Given the description of an element on the screen output the (x, y) to click on. 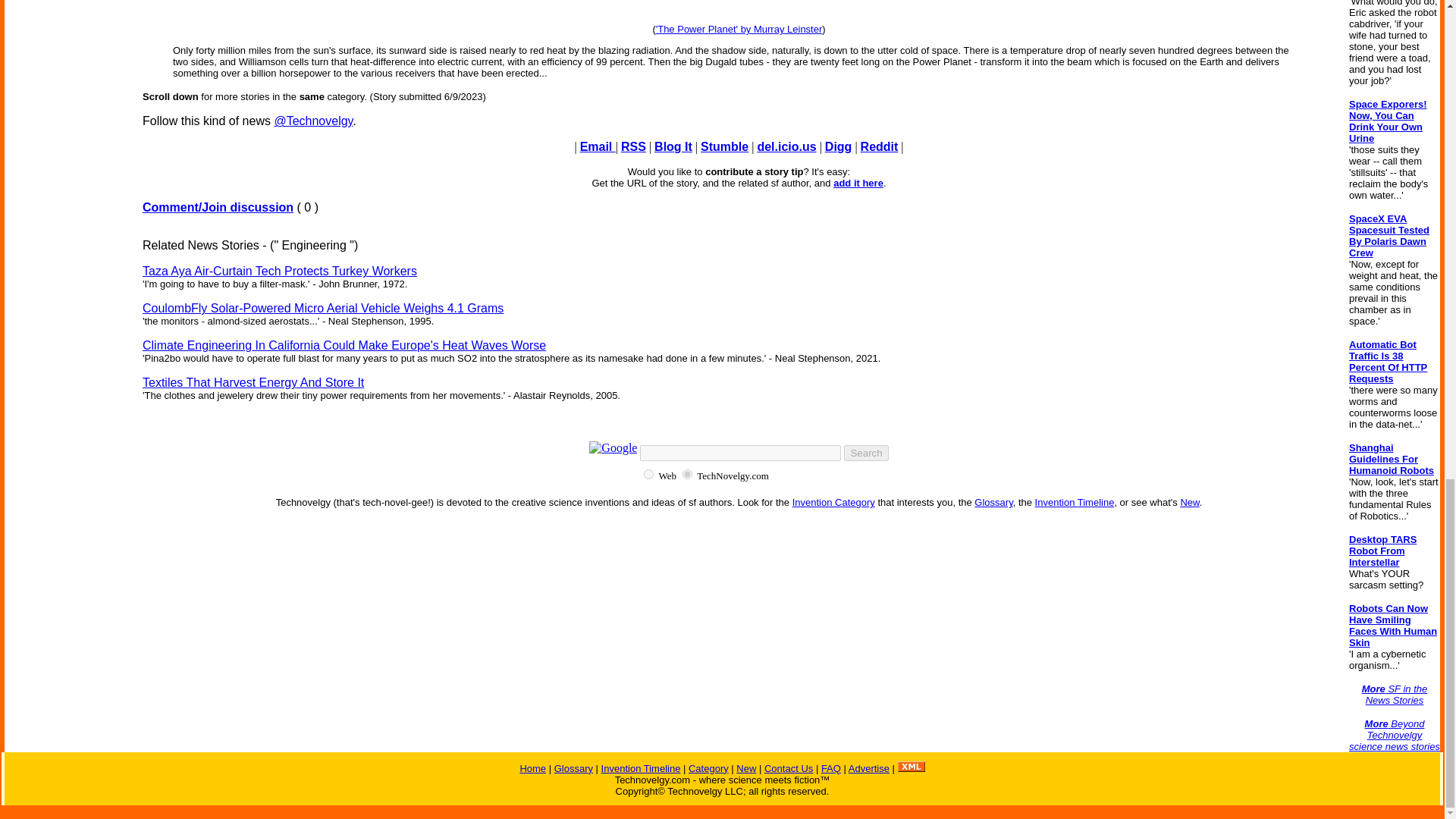
'The Power Planet' by Murray Leinster (739, 29)
Search (866, 453)
RSS (633, 146)
Email (597, 146)
TechNovelgy.com (687, 474)
